Given the description of an element on the screen output the (x, y) to click on. 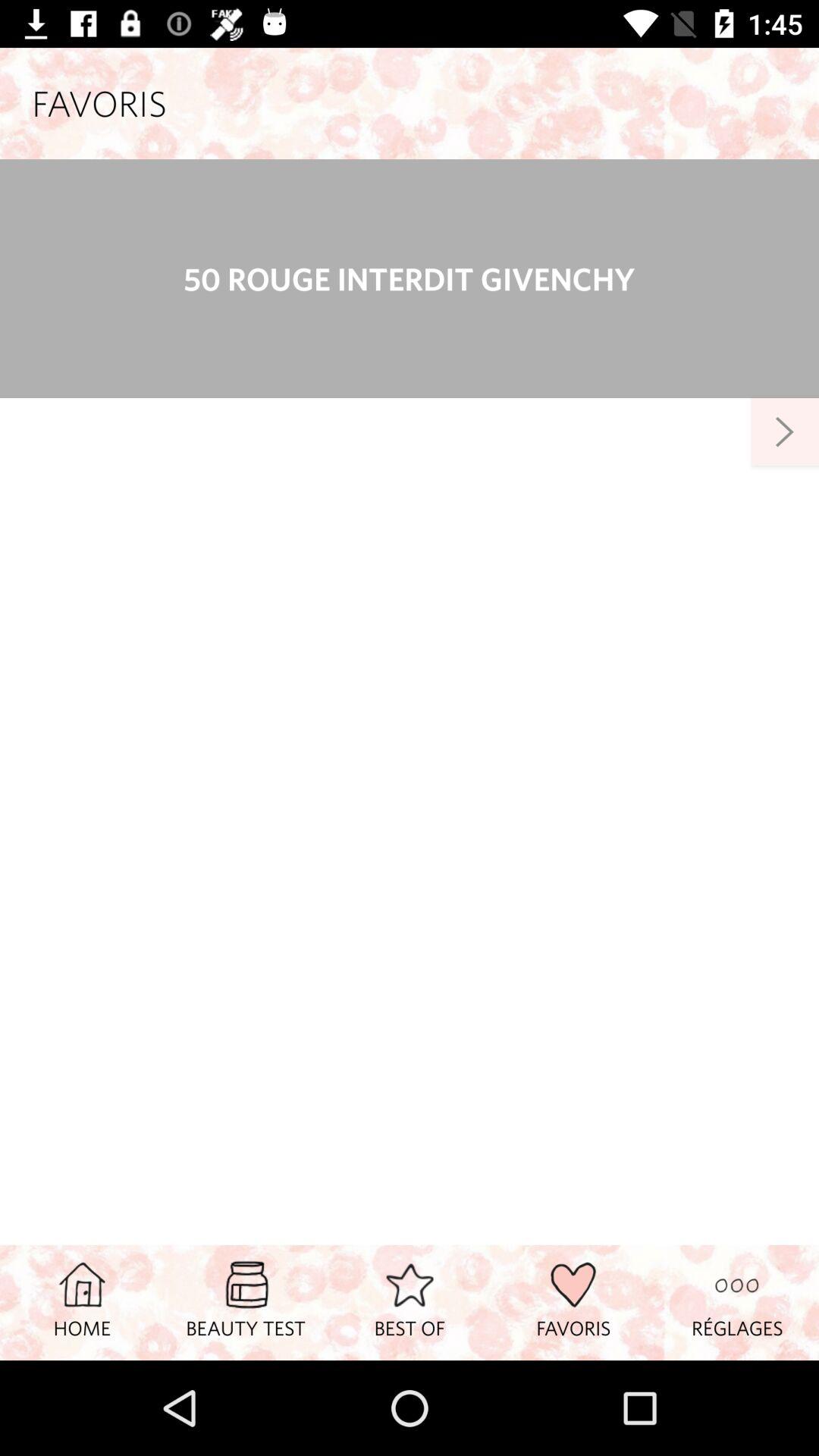
jump until best of item (409, 1302)
